Given the description of an element on the screen output the (x, y) to click on. 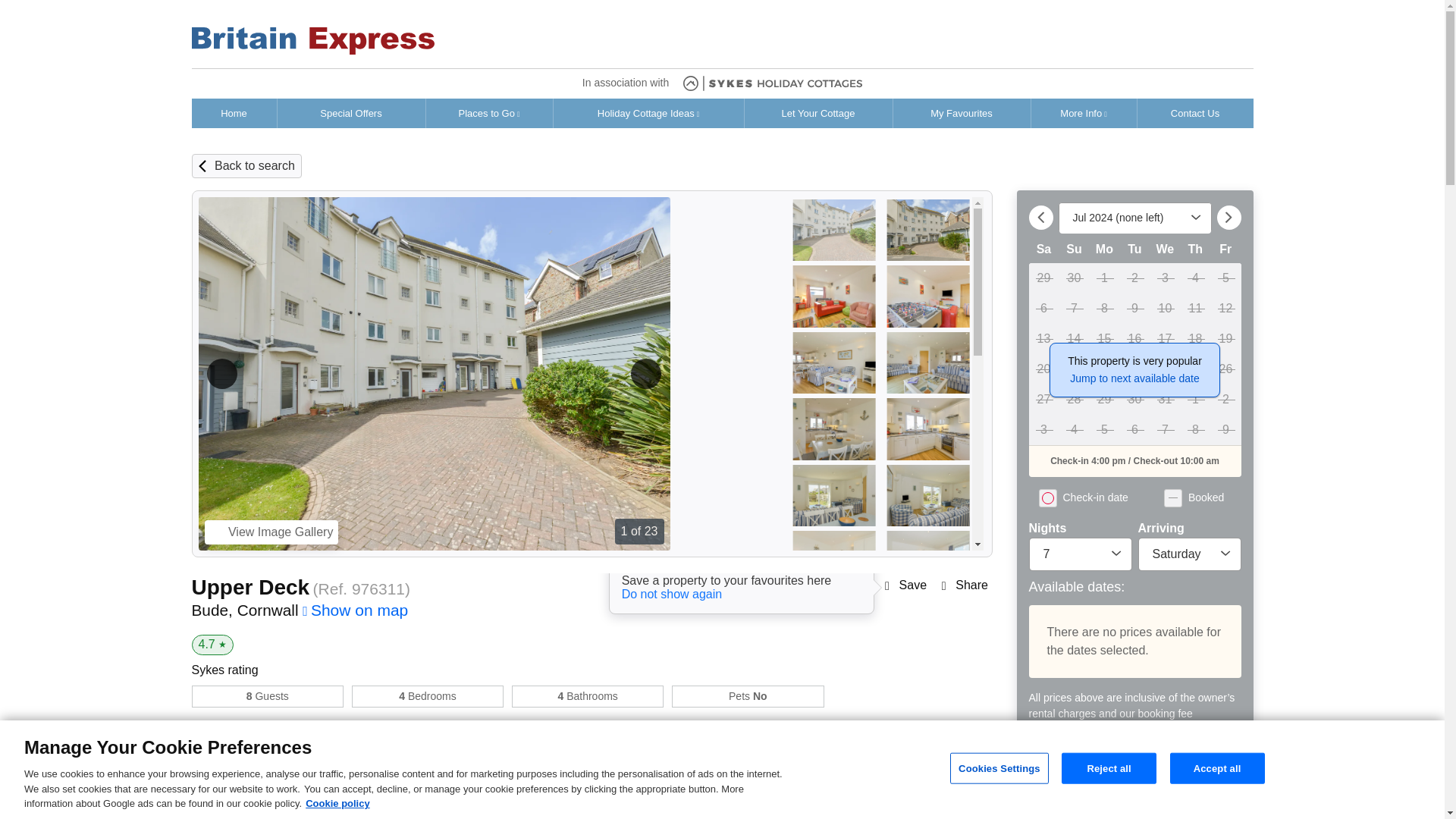
Save (912, 584)
Sykes Cottages (771, 83)
Return to search (254, 164)
Sykes Cottages (311, 40)
Holiday Cottage Ideas (648, 113)
Special Offers (351, 113)
Places to Go (489, 113)
Home (233, 113)
